Given the description of an element on the screen output the (x, y) to click on. 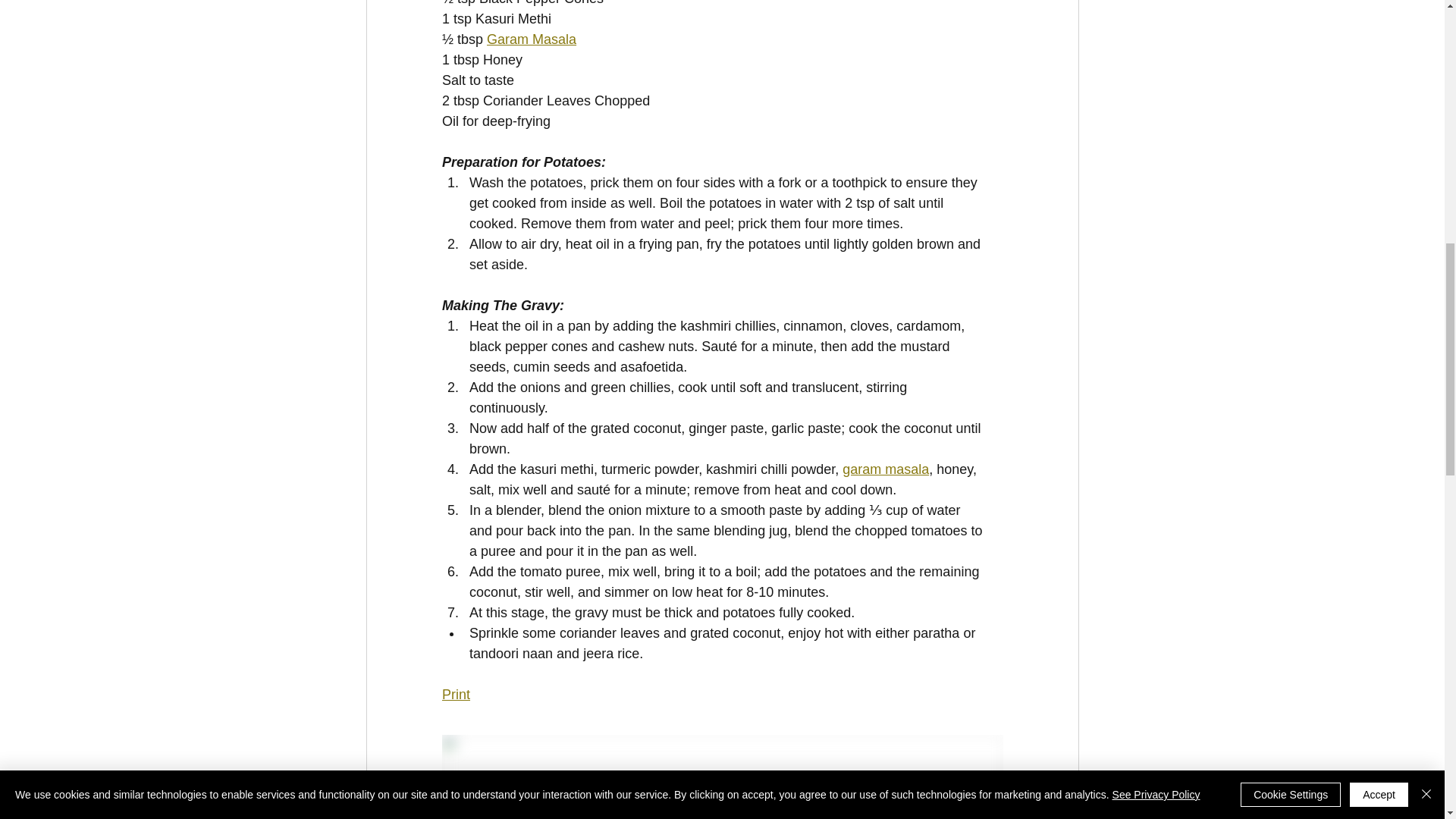
Print (454, 694)
Garam Masala (531, 38)
garam masala (885, 468)
